Given the description of an element on the screen output the (x, y) to click on. 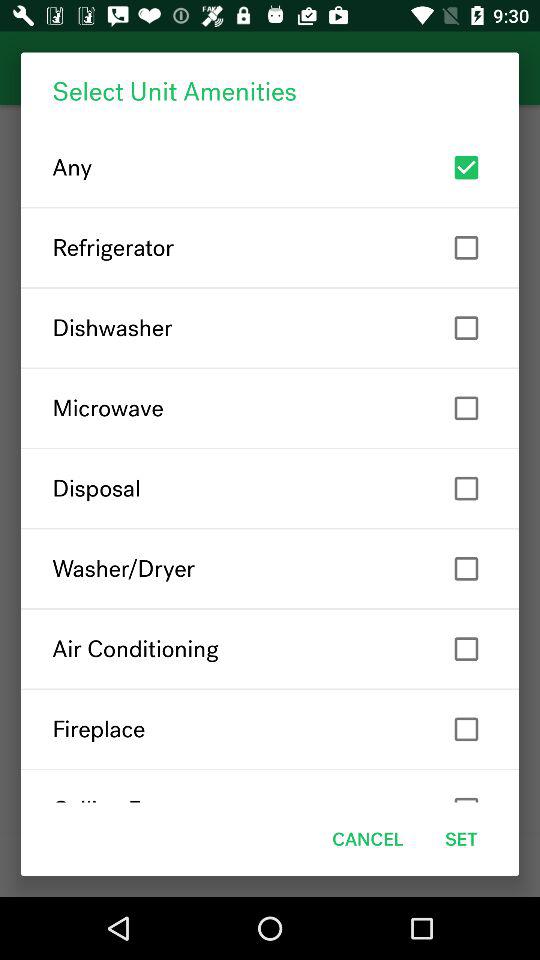
jump to fireplace item (270, 729)
